Given the description of an element on the screen output the (x, y) to click on. 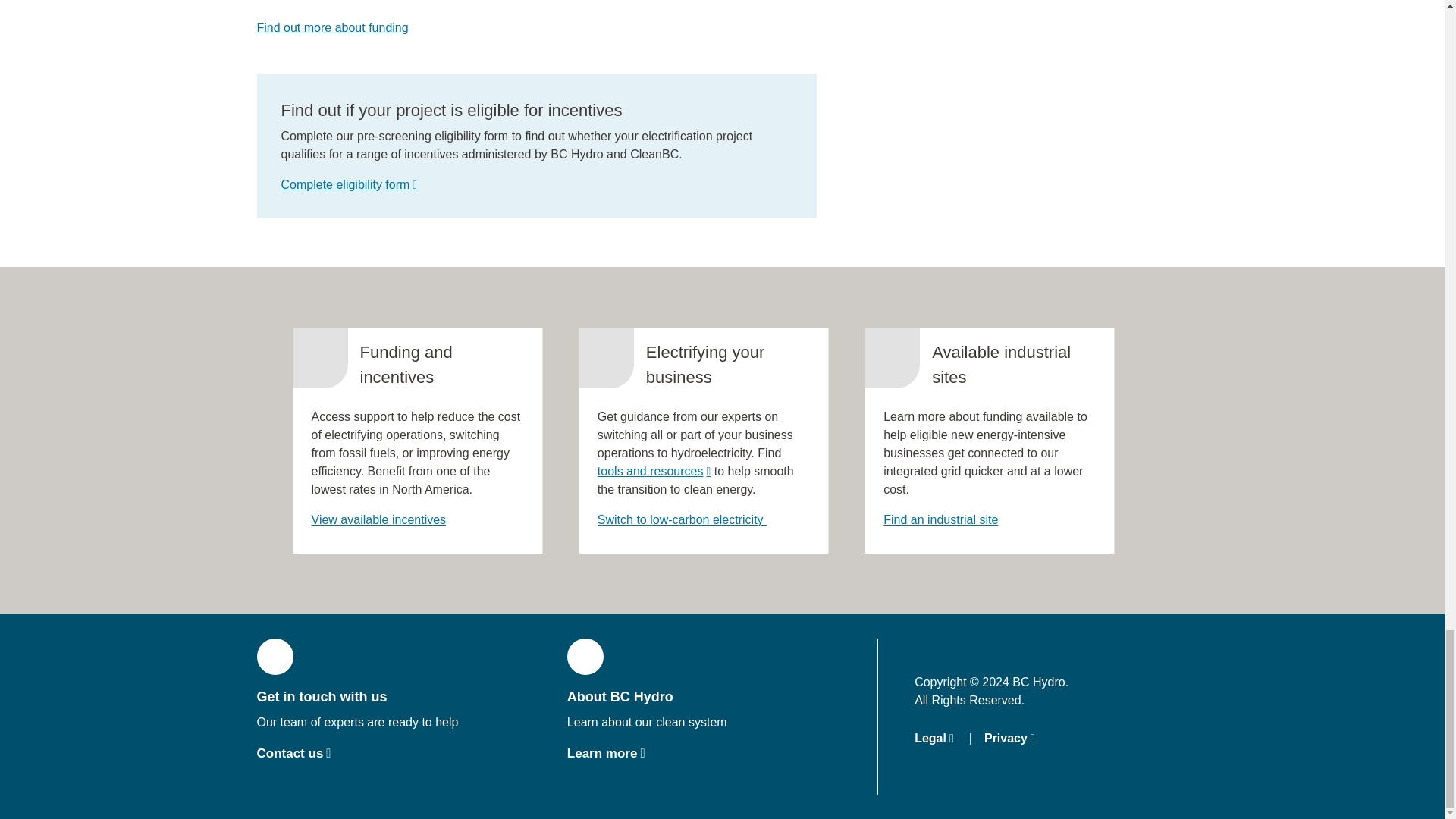
Industrial sites (940, 519)
Support and incentives (331, 27)
Support and incentives (378, 519)
Low carbon electrification (681, 519)
